Given the description of an element on the screen output the (x, y) to click on. 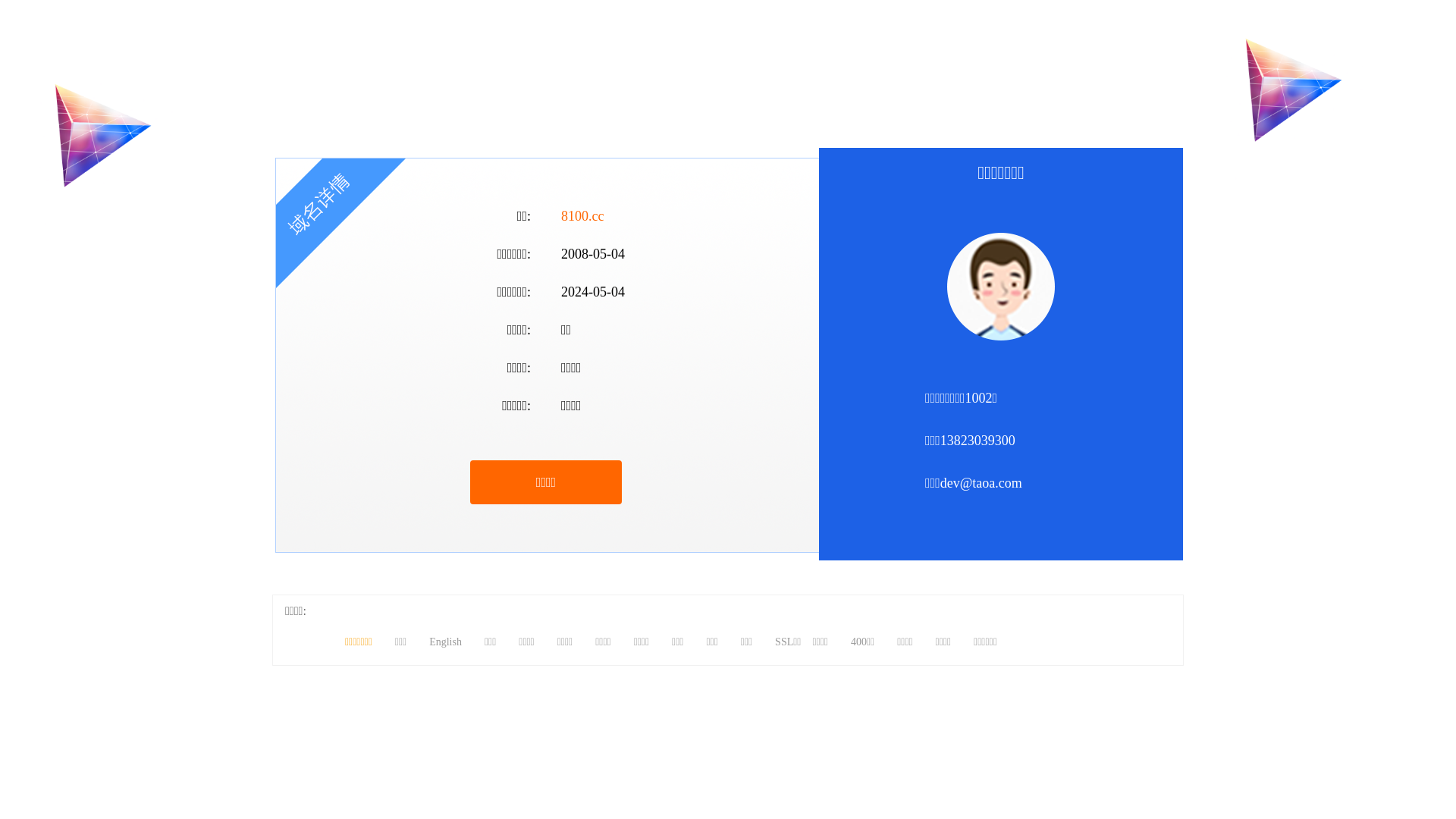
English Element type: text (445, 641)
